Given the description of an element on the screen output the (x, y) to click on. 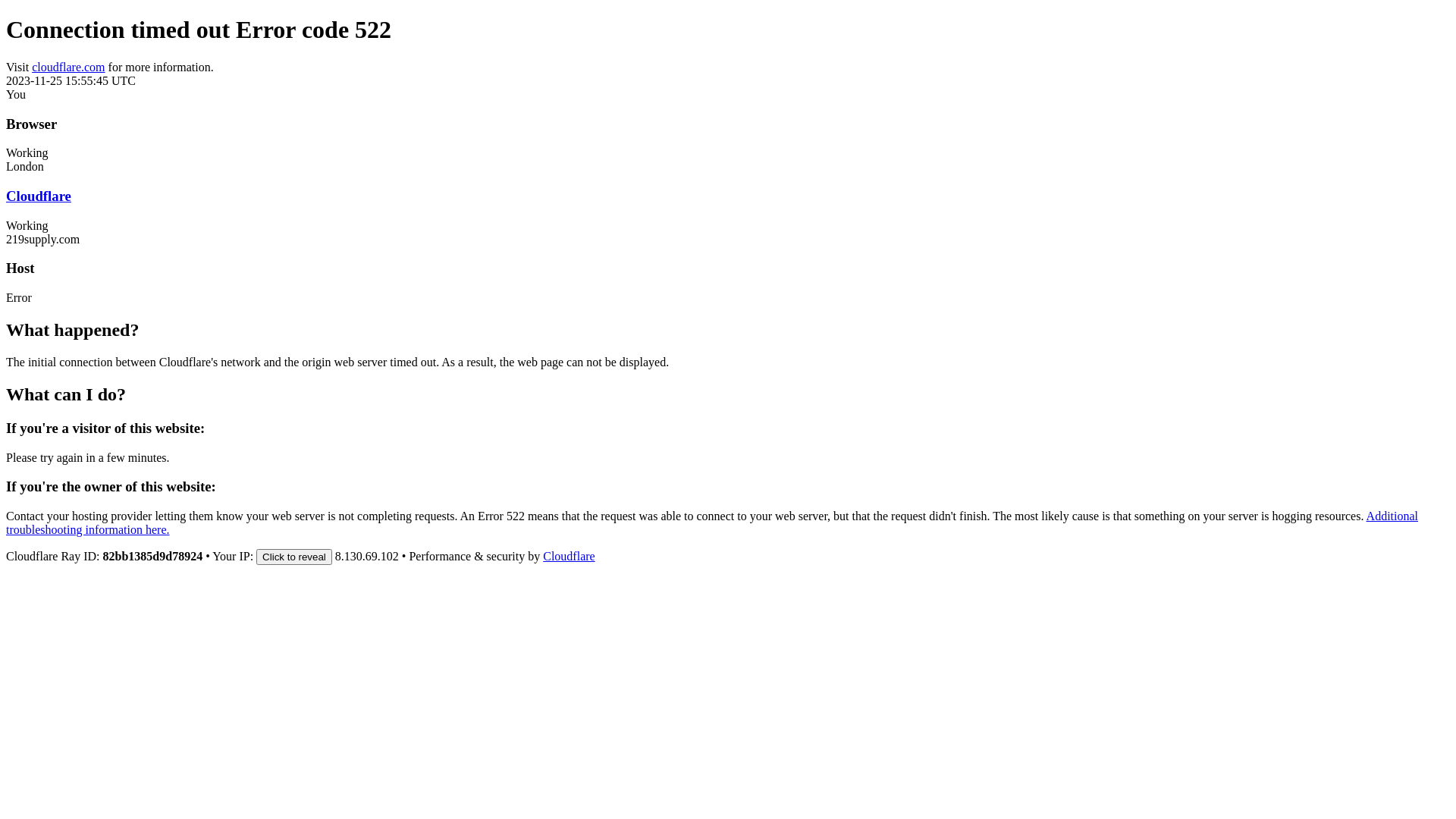
Cloudflare Element type: text (568, 555)
Click to reveal Element type: text (294, 556)
cloudflare.com Element type: text (67, 66)
Additional troubleshooting information here. Element type: text (712, 522)
Cloudflare Element type: text (38, 195)
